Given the description of an element on the screen output the (x, y) to click on. 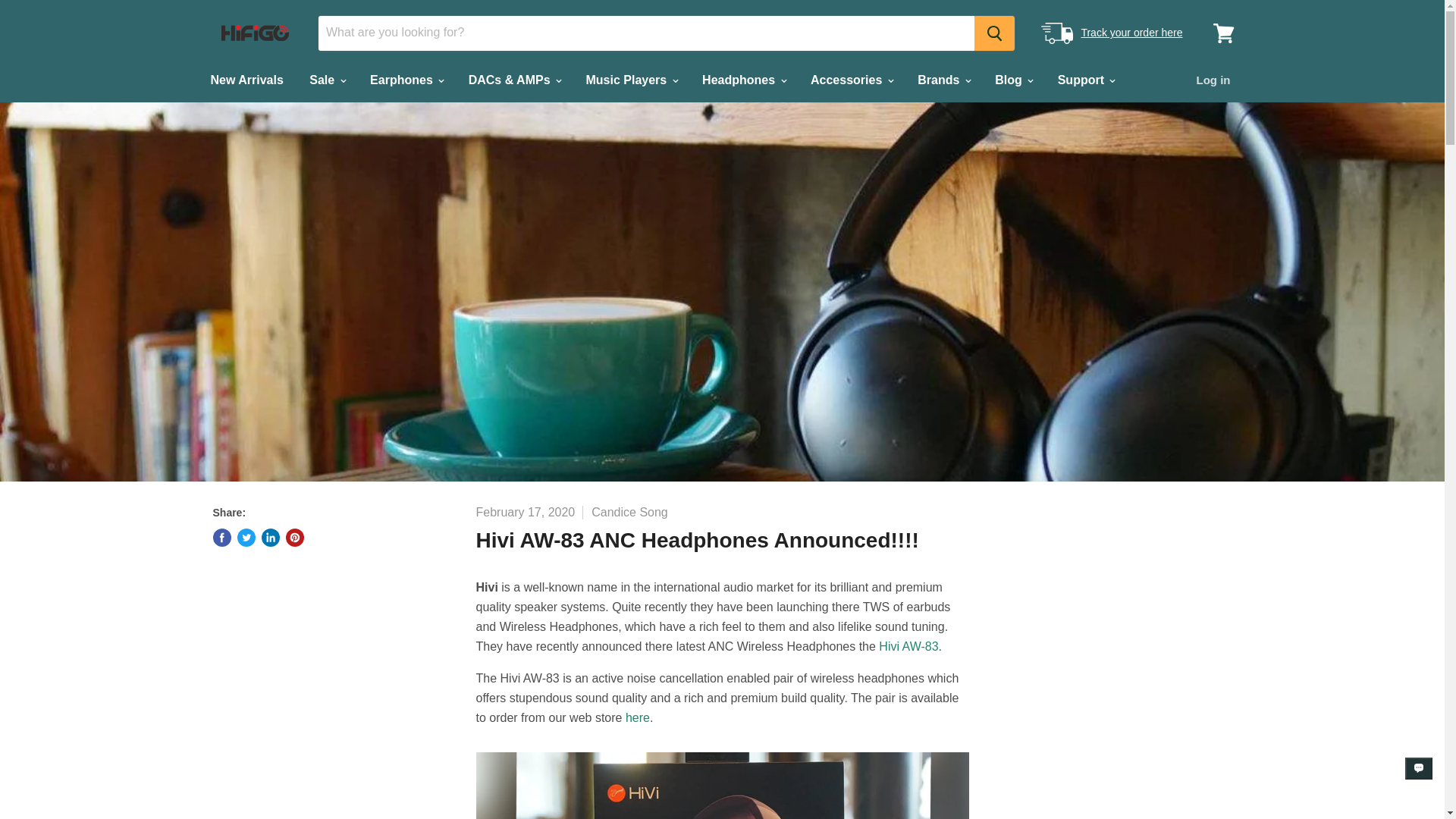
Earphones (405, 80)
Hivi AW-83 (908, 645)
Hivi AW-83 (637, 717)
Sale (326, 80)
View cart (1223, 32)
Track your order here (1131, 32)
New Arrivals (246, 80)
